Given the description of an element on the screen output the (x, y) to click on. 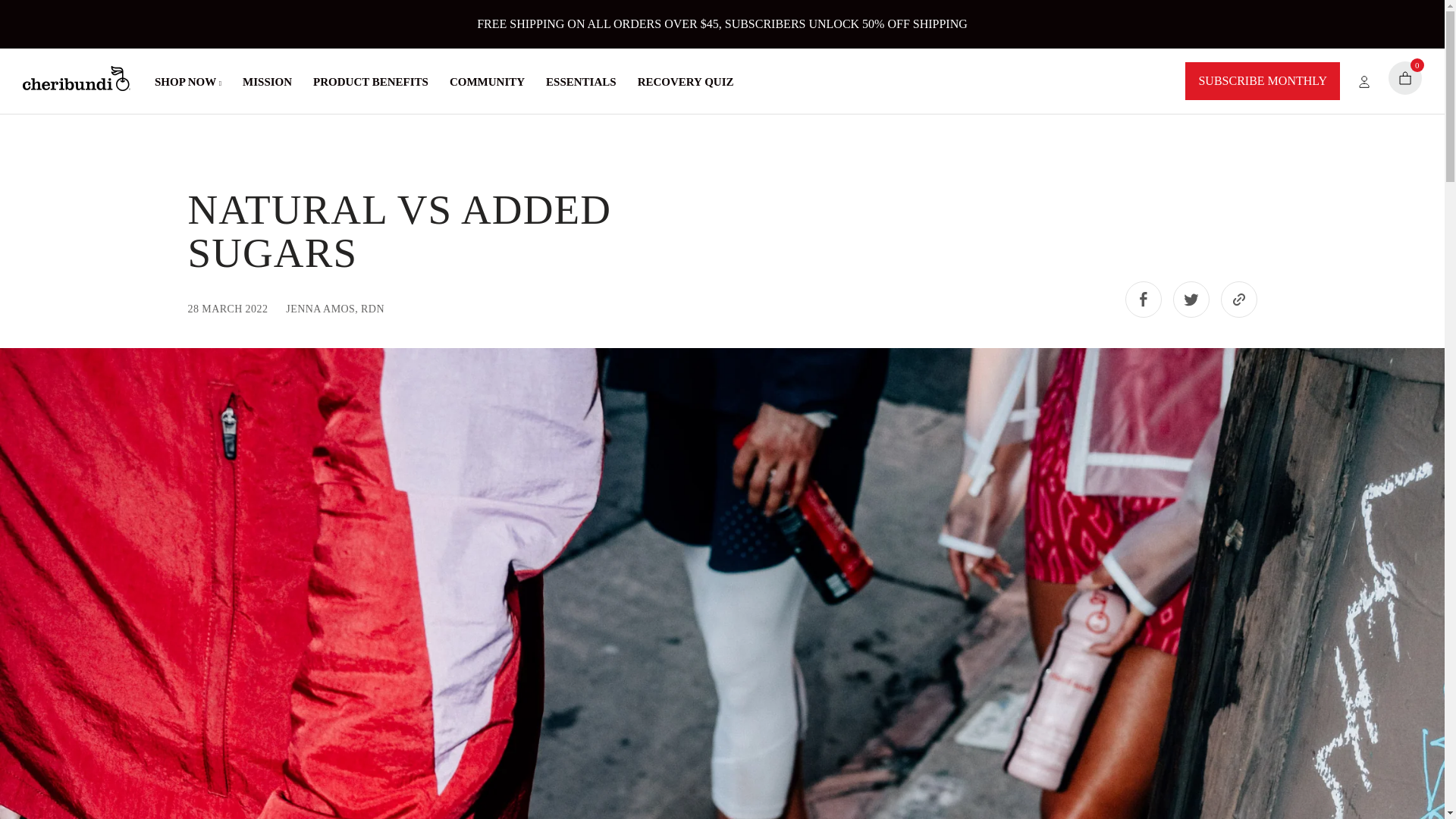
login - logout (1354, 81)
Cart (1405, 78)
RECOVERY QUIZ (685, 81)
PRODUCT BENEFITS (370, 81)
COMMUNITY (486, 81)
0 (1405, 78)
MISSION (267, 81)
SHOP NOW (187, 81)
ESSENTIALS (580, 81)
SUBSCRIBE MONTHLY (1262, 80)
